Given the description of an element on the screen output the (x, y) to click on. 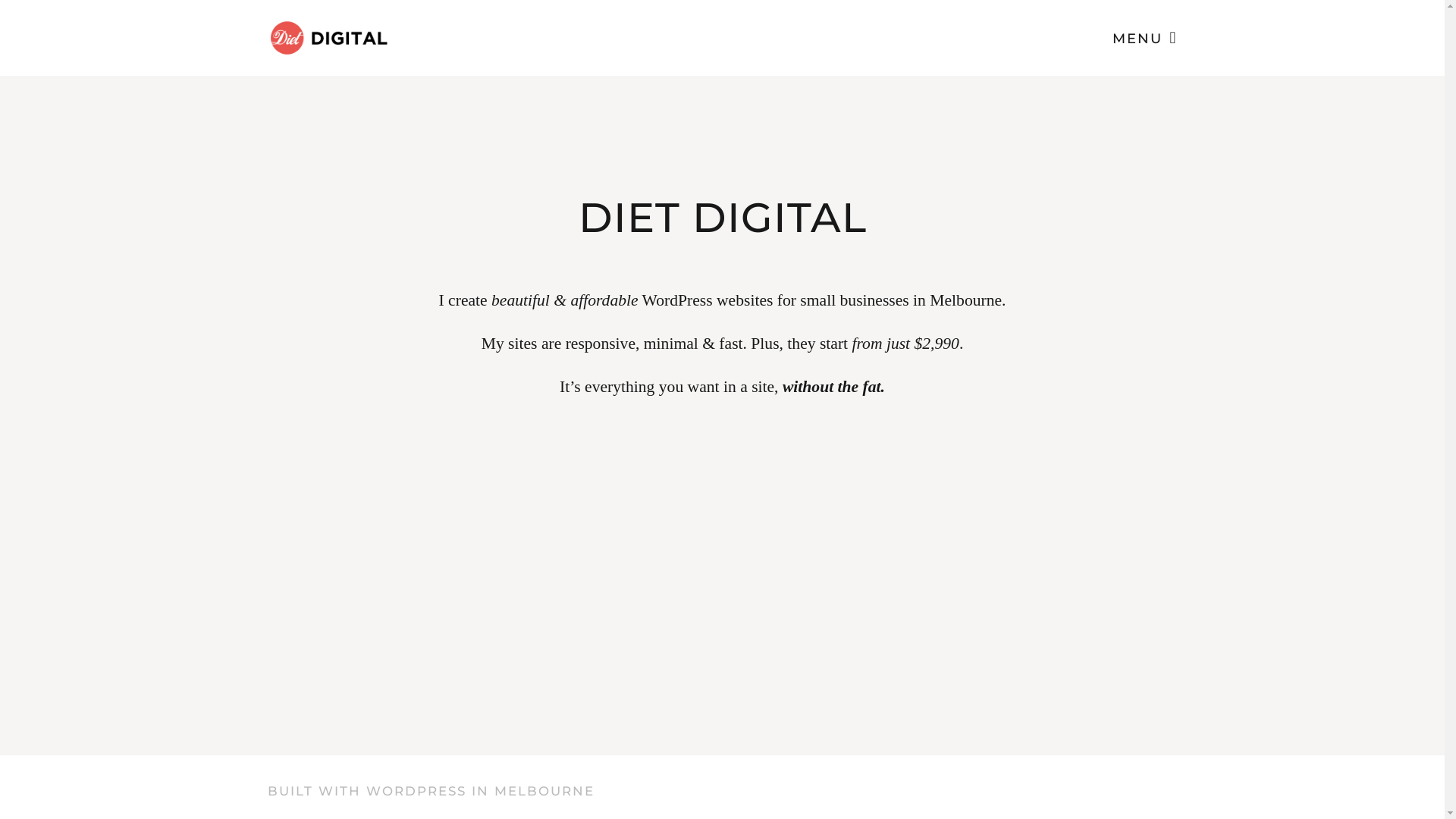
MENU Element type: text (1144, 36)
